Given the description of an element on the screen output the (x, y) to click on. 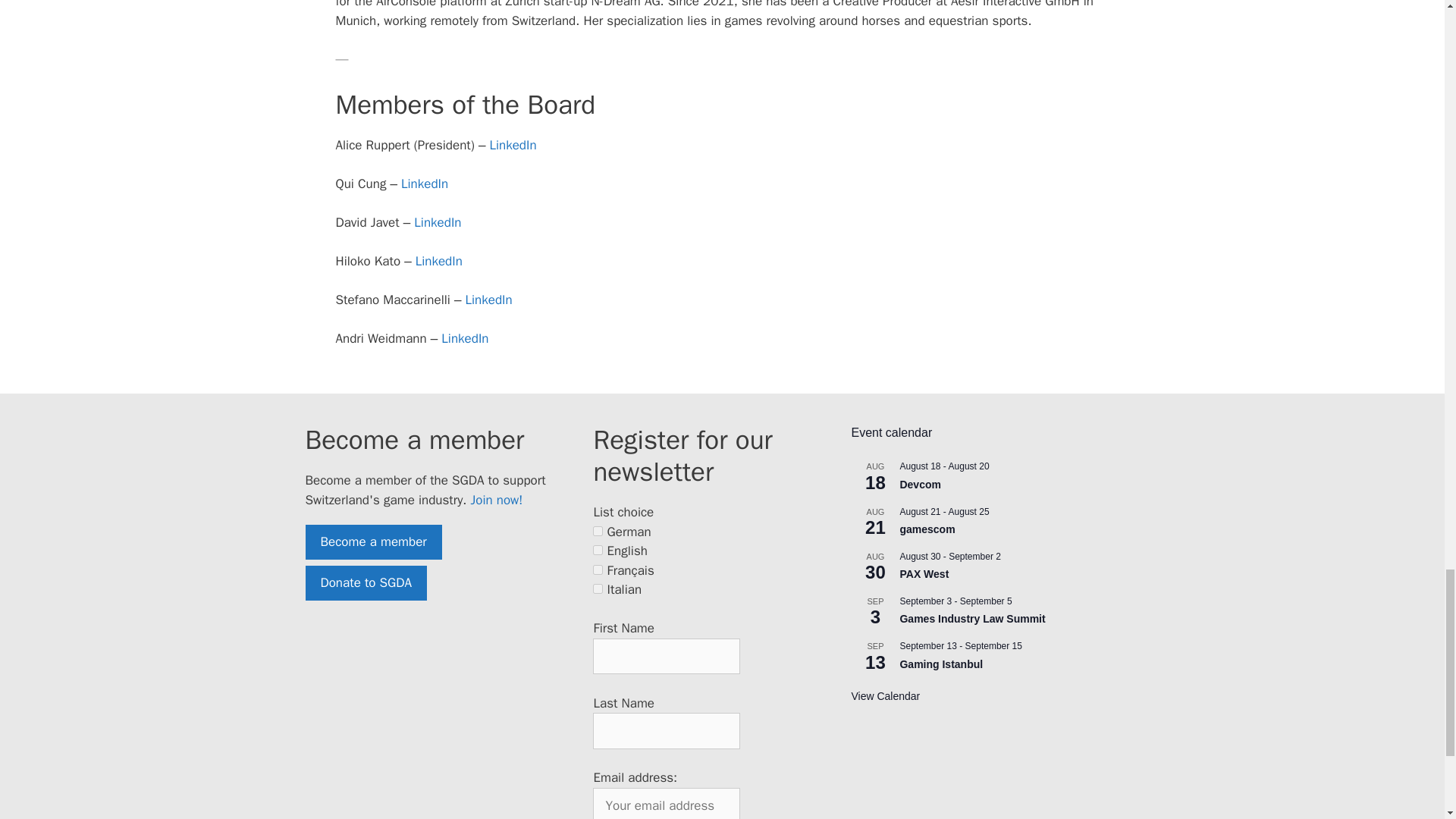
Devcom (919, 484)
bf41ff6568 (597, 550)
05ce5e9d4f (597, 531)
b4c9b4df3d (597, 569)
b4c9c03f97 (597, 588)
gamescom (927, 529)
